Given the description of an element on the screen output the (x, y) to click on. 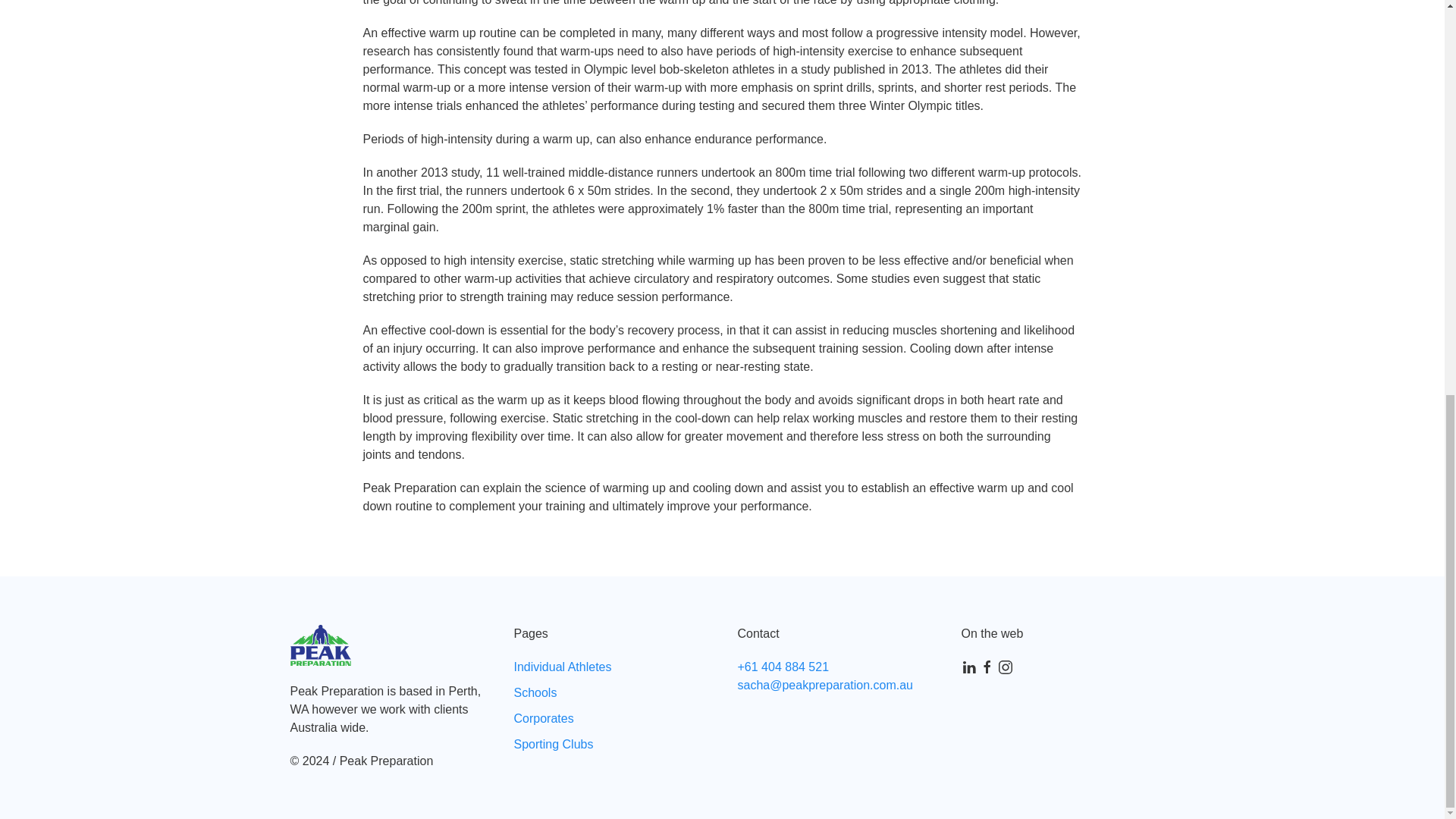
Sporting Clubs (553, 744)
Individual Athletes (562, 666)
Corporates (543, 717)
Schools (535, 692)
